Given the description of an element on the screen output the (x, y) to click on. 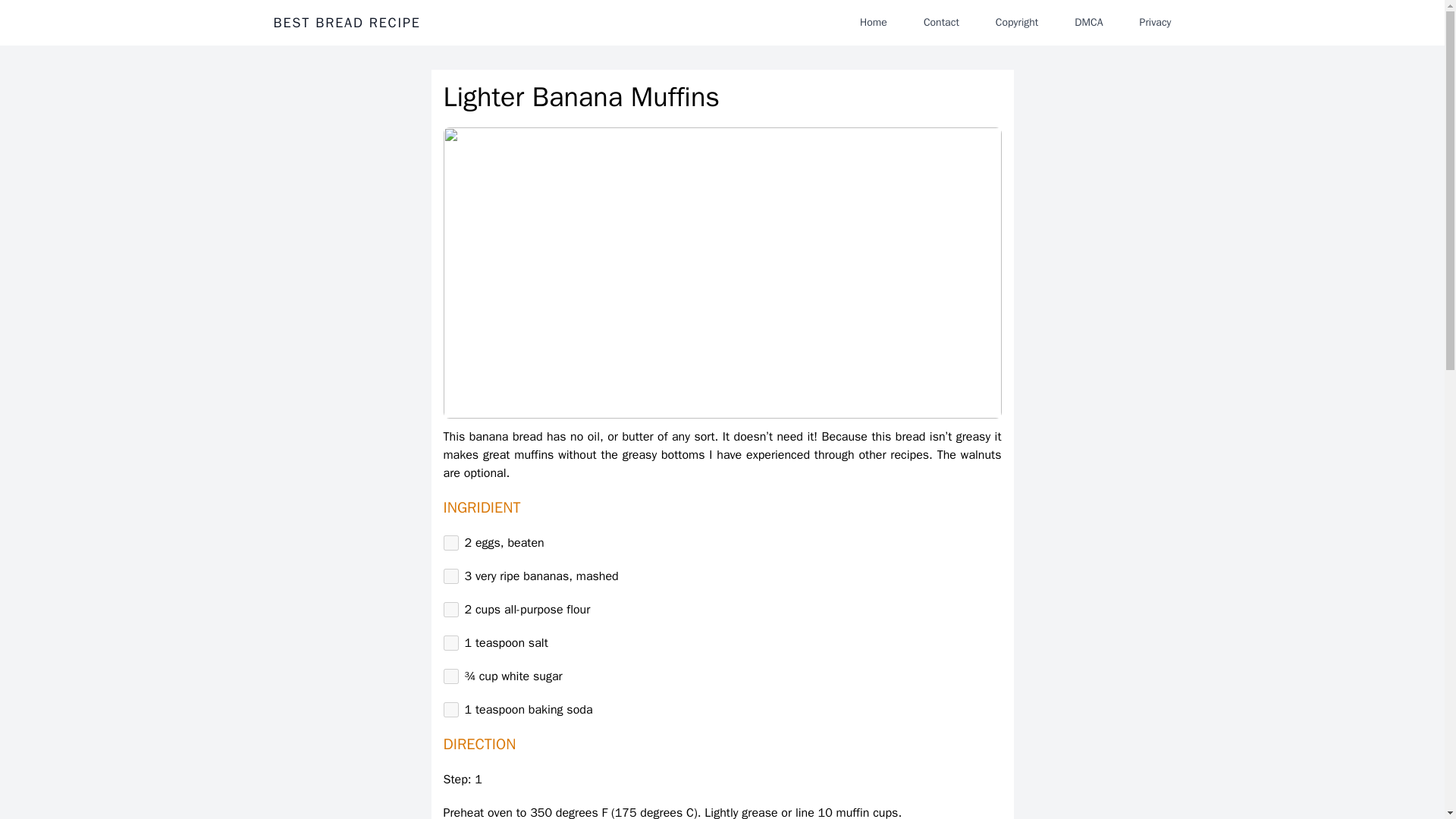
on (450, 676)
BEST BREAD RECIPE (346, 22)
Contact (941, 22)
on (450, 542)
DMCA (1088, 22)
on (450, 609)
Privacy (1154, 22)
on (450, 709)
on (450, 642)
Copyright (1016, 22)
